Given the description of an element on the screen output the (x, y) to click on. 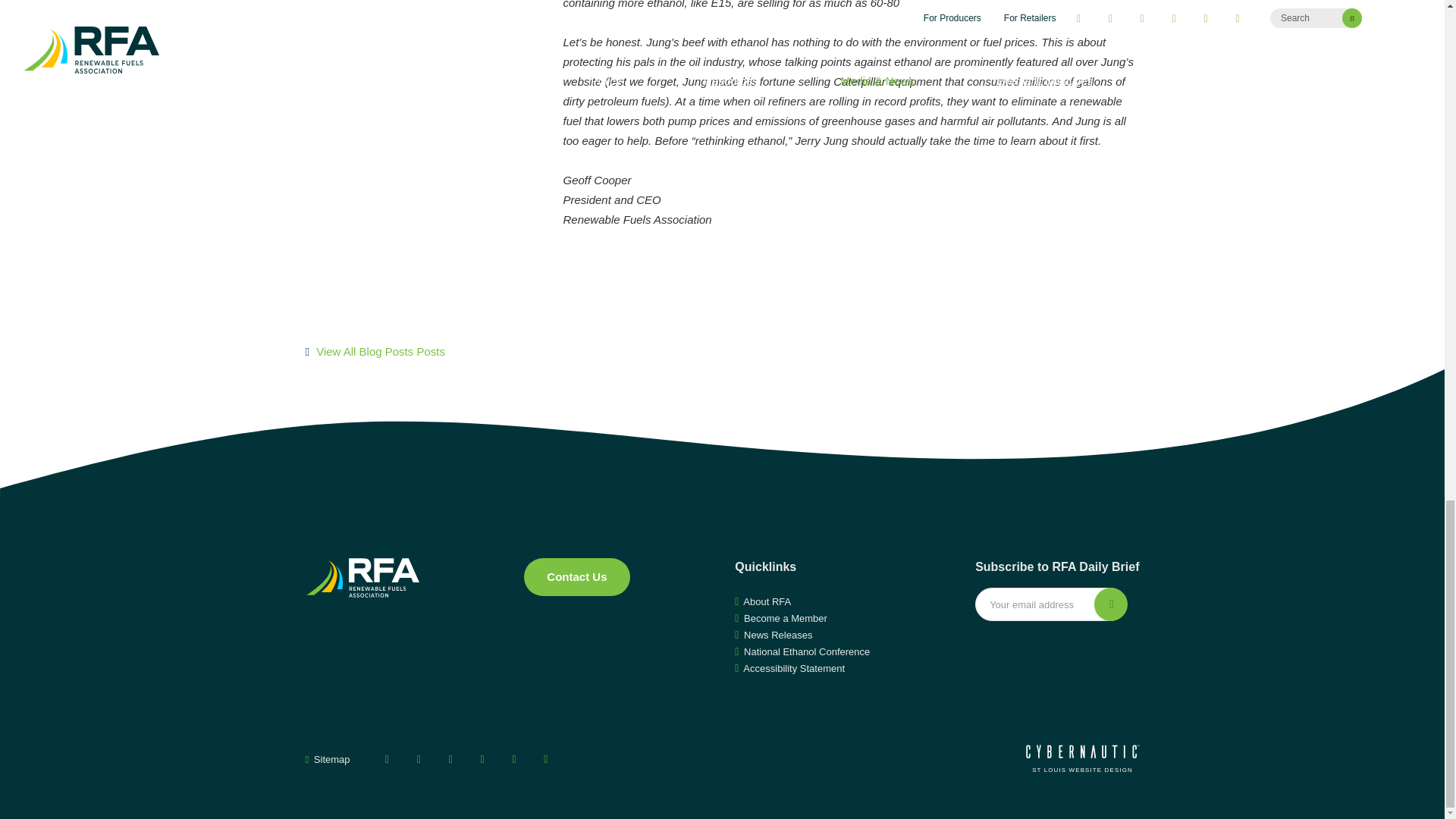
Flickr (545, 758)
Instagram (481, 758)
Twitter (418, 758)
Home (361, 577)
Facebook (386, 758)
YouTube (450, 758)
LinkedIn (513, 758)
